Given the description of an element on the screen output the (x, y) to click on. 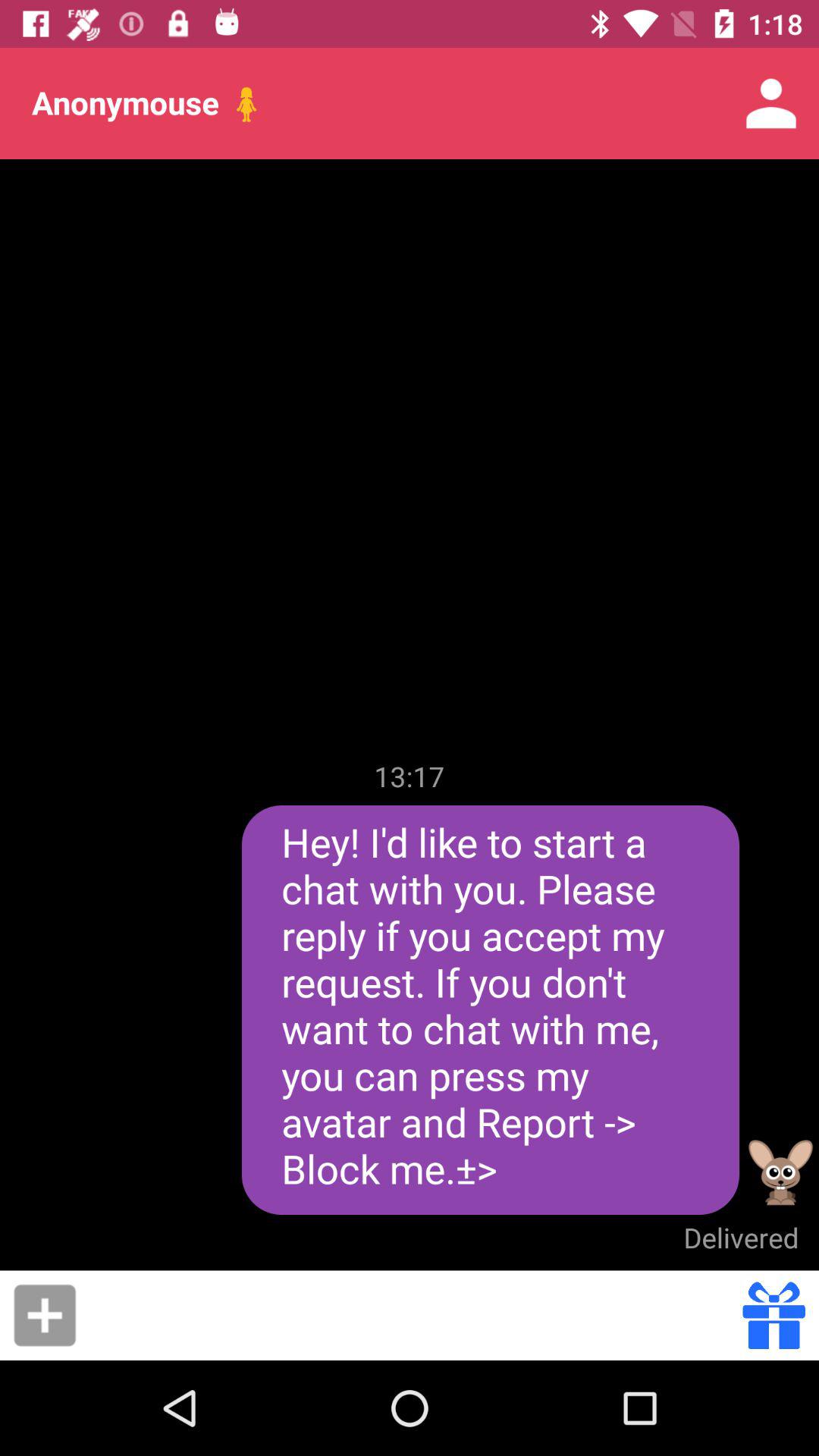
open effects extras (774, 1315)
